Given the description of an element on the screen output the (x, y) to click on. 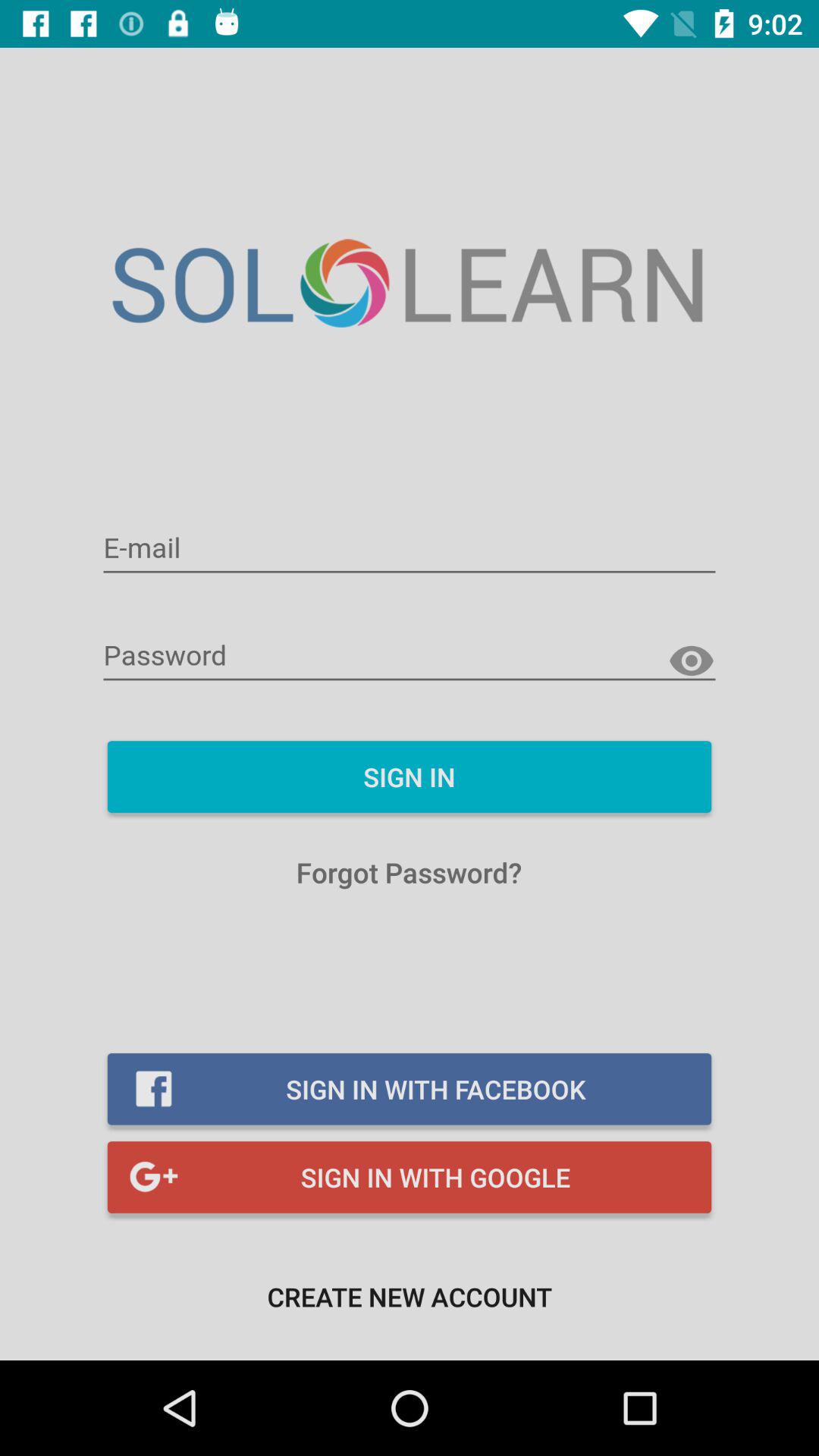
because back devicer (409, 548)
